Given the description of an element on the screen output the (x, y) to click on. 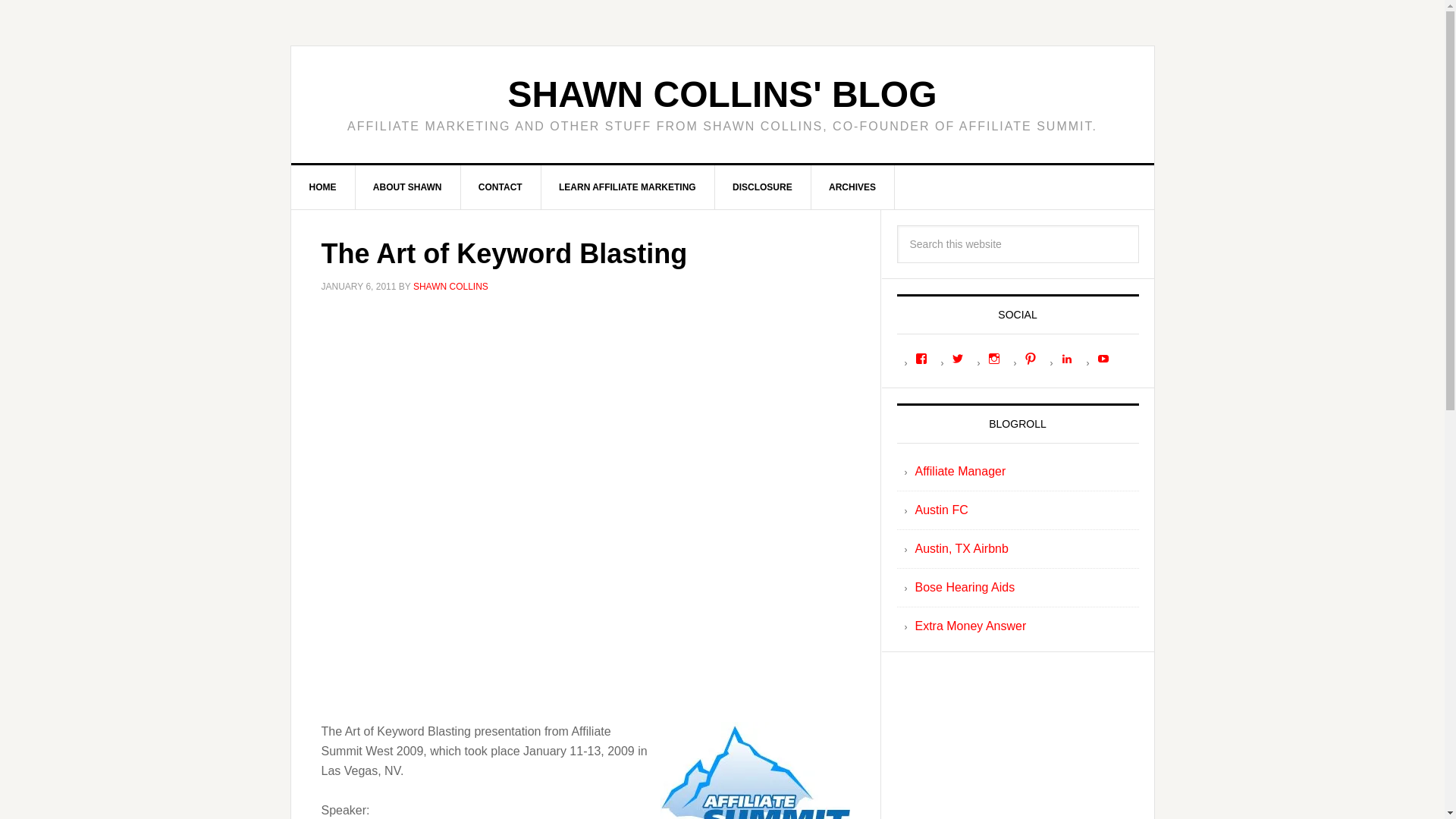
ABOUT SHAWN (408, 187)
LEARN AFFILIATE MARKETING (627, 187)
CONTACT (500, 187)
SHAWN COLLINS' BLOG (721, 94)
SHAWN COLLINS (450, 286)
DISCLOSURE (762, 187)
ARCHIVES (852, 187)
Extra Money Answer (970, 625)
Bose Hearing Aids (964, 586)
HOME (323, 187)
affiliate-summit-logo (753, 770)
Affiliate Manager (960, 471)
